Given the description of an element on the screen output the (x, y) to click on. 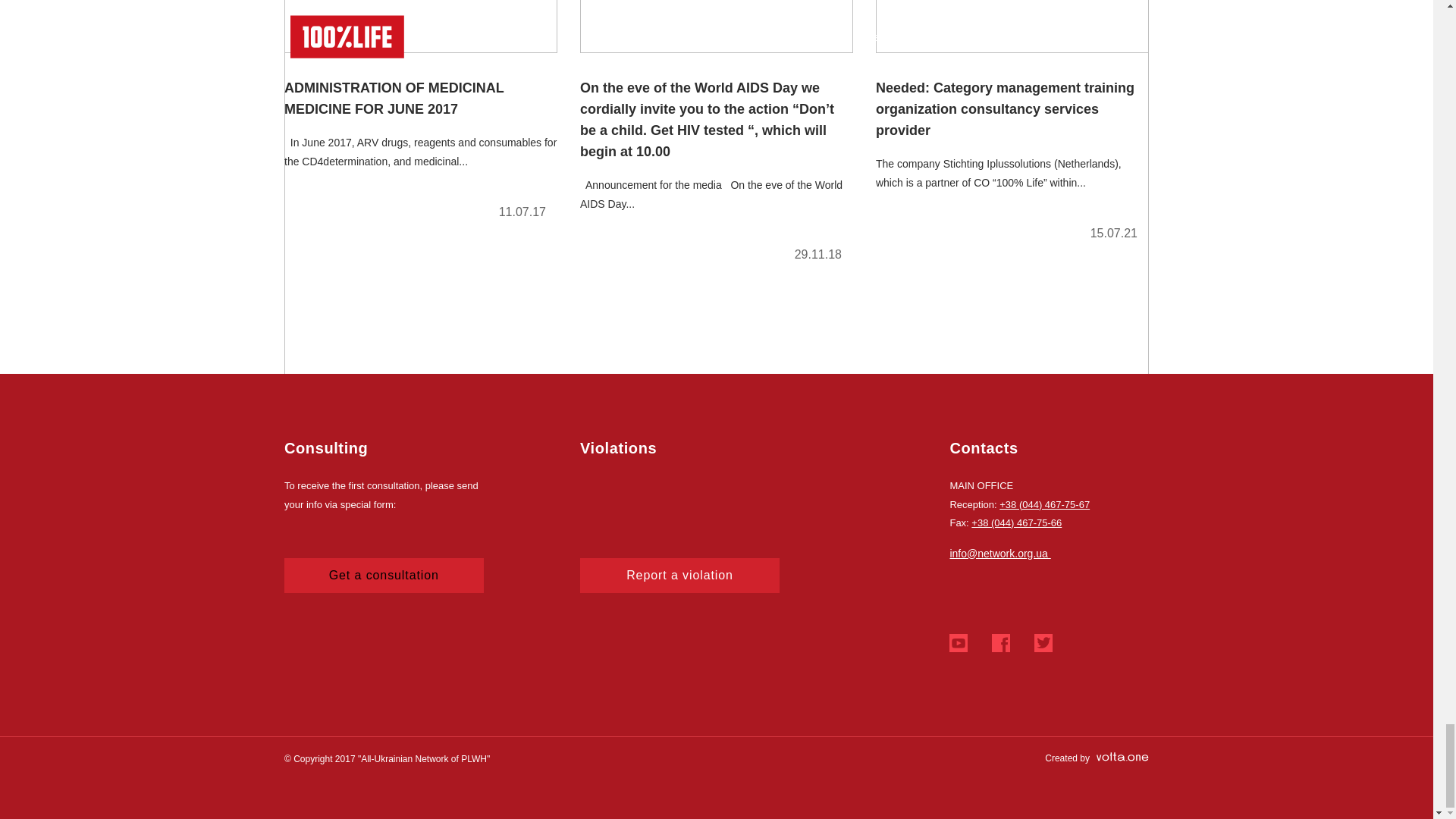
Get a consultation (383, 574)
Report a violation (678, 574)
Report a violation (678, 574)
ADMINISTRATION OF MEDICINAL MEDICINE FOR JUNE 2017 (420, 116)
Created by (1096, 757)
Get a consultation (383, 574)
